Given the description of an element on the screen output the (x, y) to click on. 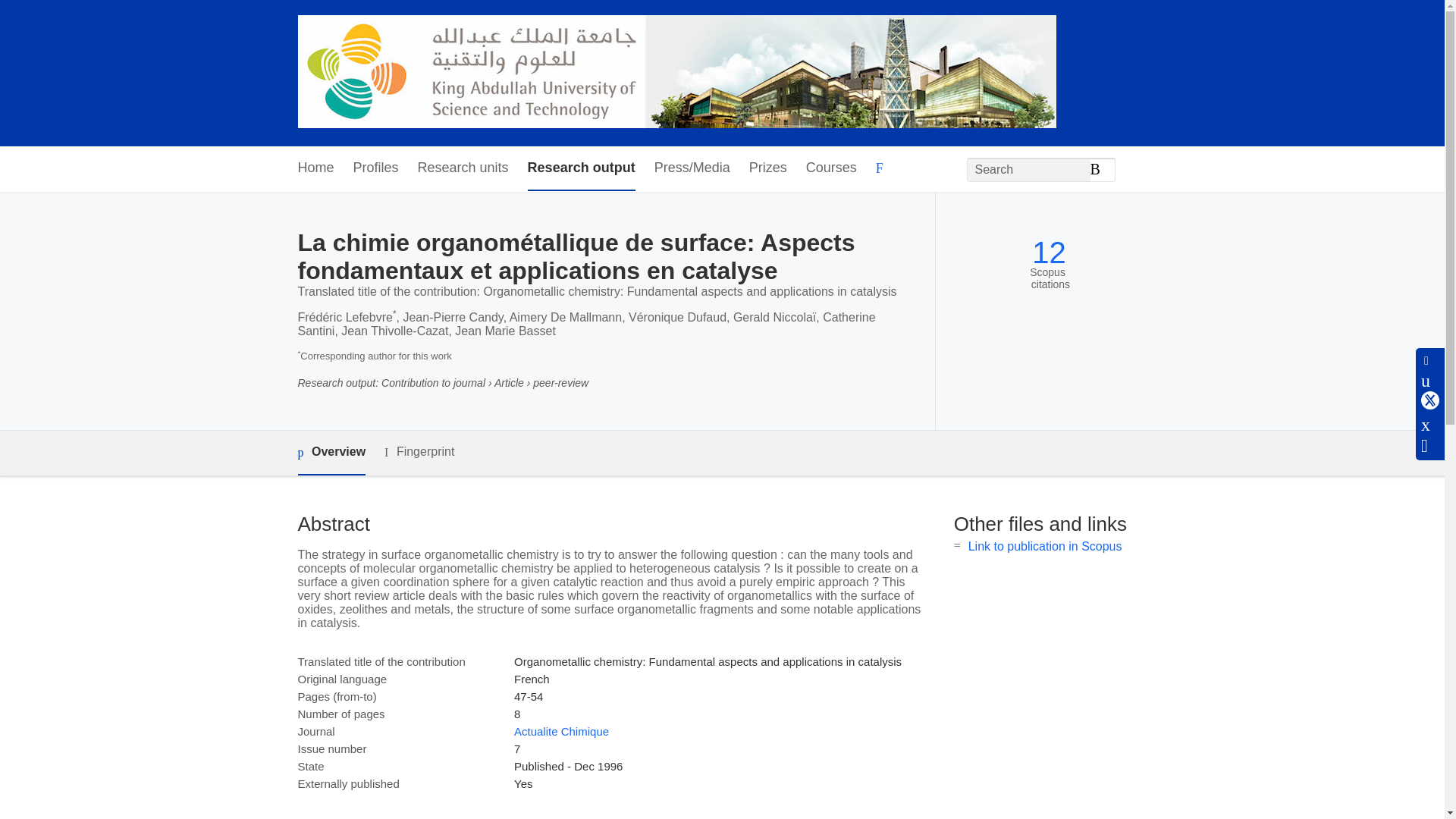
Actualite Chimique (560, 730)
Overview (331, 452)
Fingerprint (419, 452)
Profiles (375, 168)
Research output (580, 168)
Courses (831, 168)
Link to publication in Scopus (1045, 545)
Research units (462, 168)
12 (1048, 252)
